Given the description of an element on the screen output the (x, y) to click on. 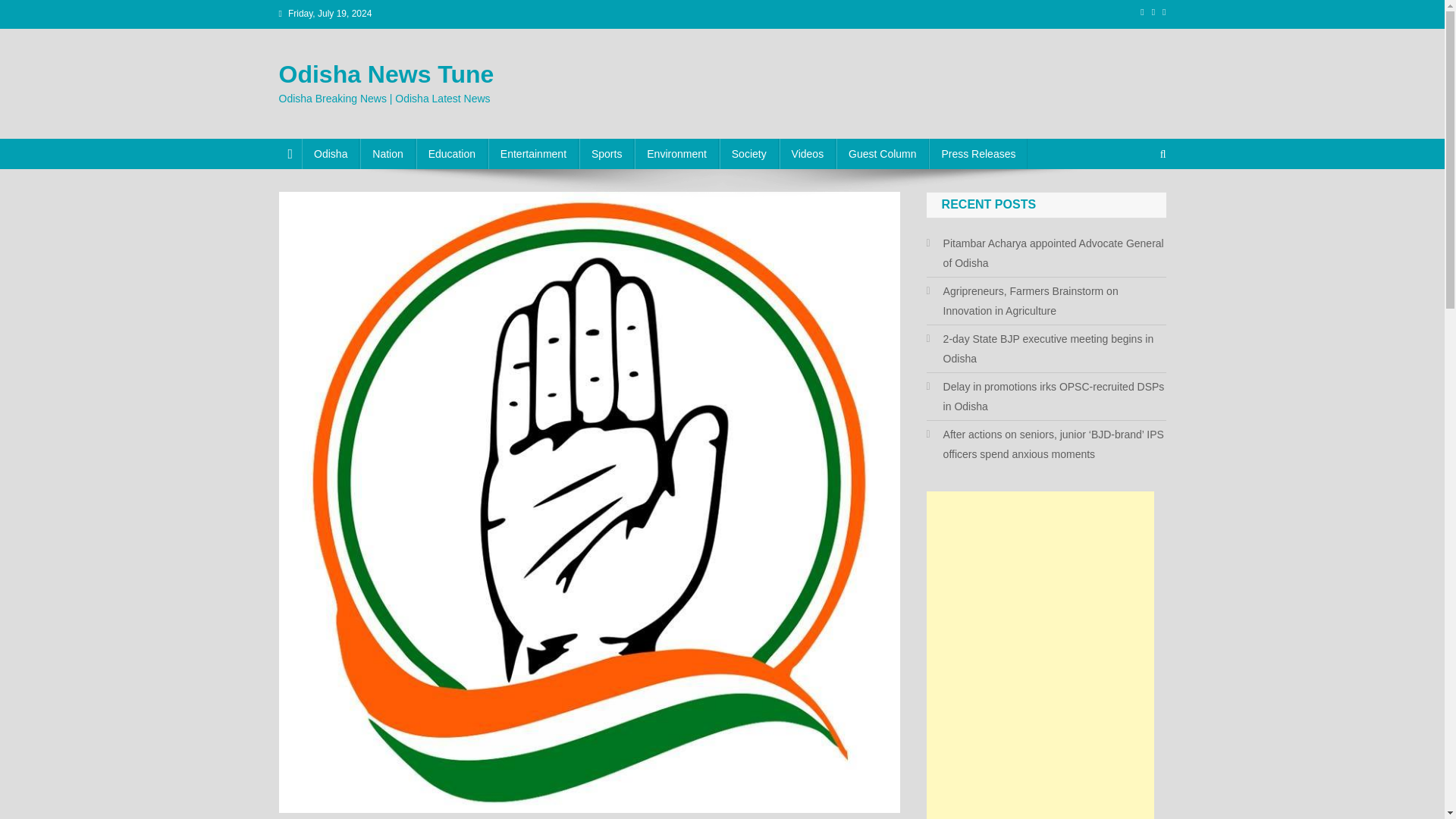
Press Releases (977, 153)
Education (451, 153)
Search (1133, 204)
Nation (386, 153)
Entertainment (532, 153)
Environment (676, 153)
Odisha (330, 153)
Sports (606, 153)
Odisha News Tune (387, 73)
Society (748, 153)
Videos (806, 153)
Guest Column (881, 153)
